Given the description of an element on the screen output the (x, y) to click on. 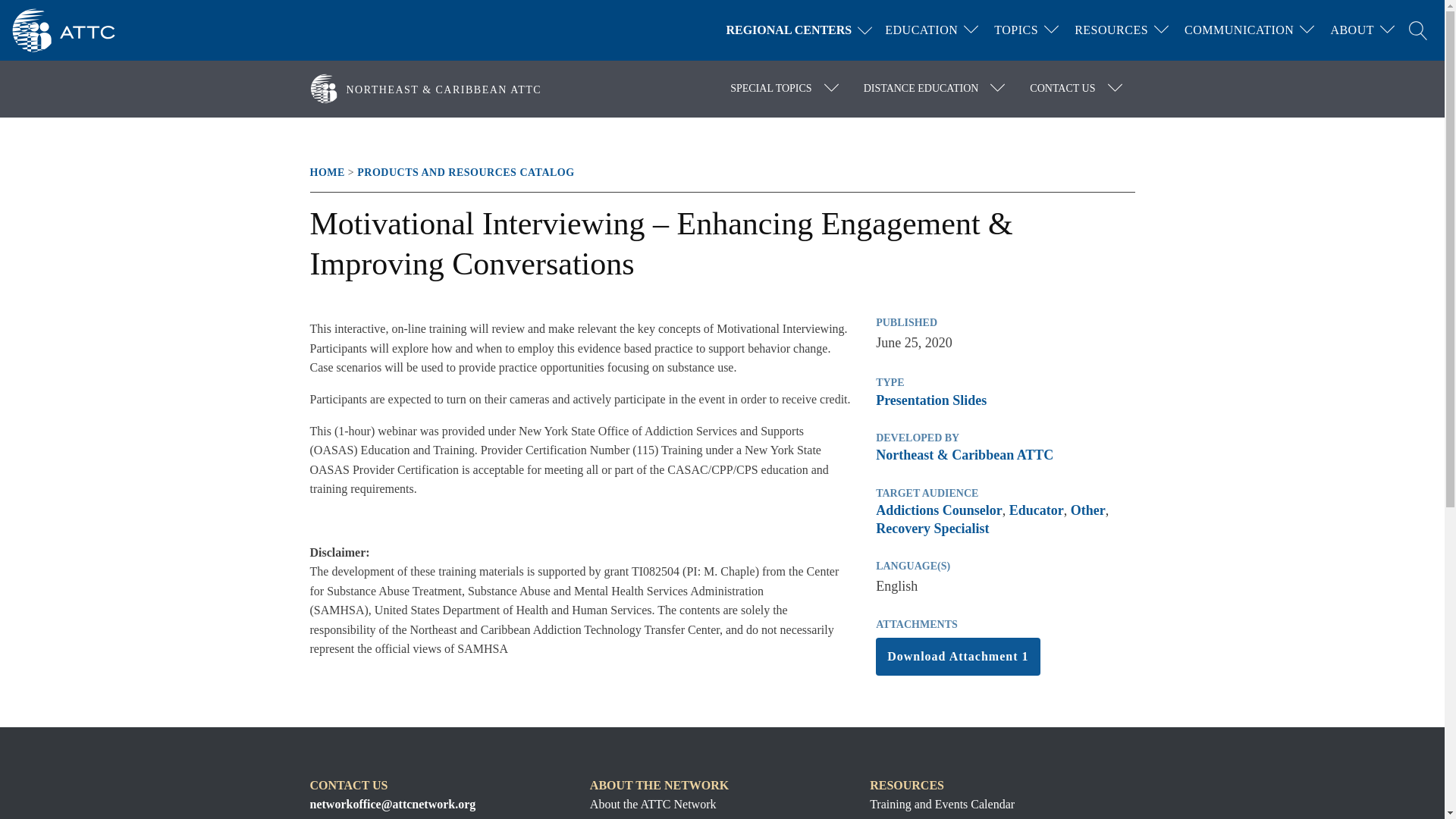
TOPICS (1015, 30)
EDUCATION (921, 30)
RESOURCES (1111, 30)
REGIONAL CENTERS (802, 30)
